Given the description of an element on the screen output the (x, y) to click on. 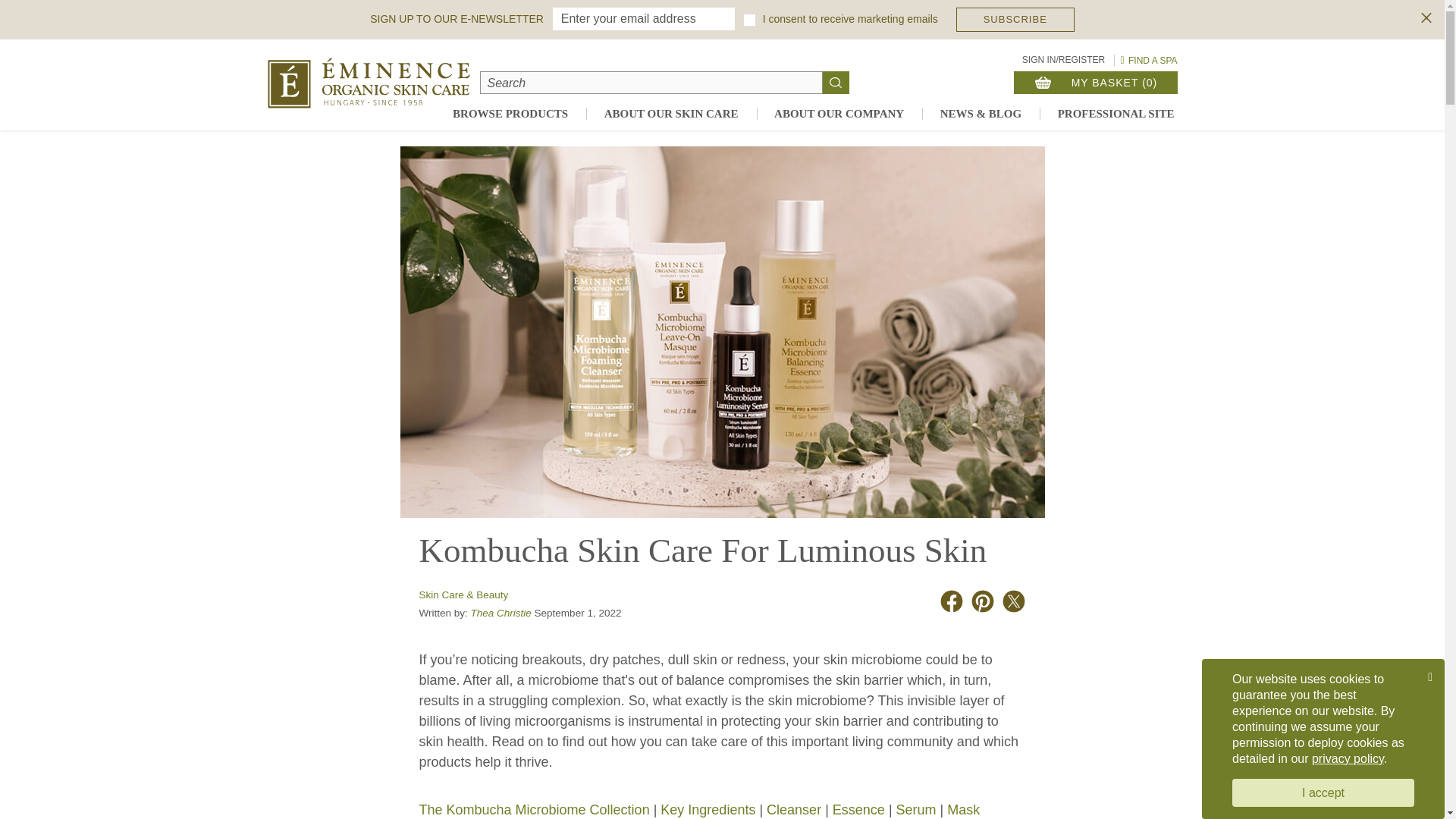
on (749, 19)
FIND A SPA (1146, 59)
SUBSCRIBE (1015, 19)
I accept (1322, 792)
privacy policy (1347, 758)
Search (58, 12)
Home (367, 82)
